Given the description of an element on the screen output the (x, y) to click on. 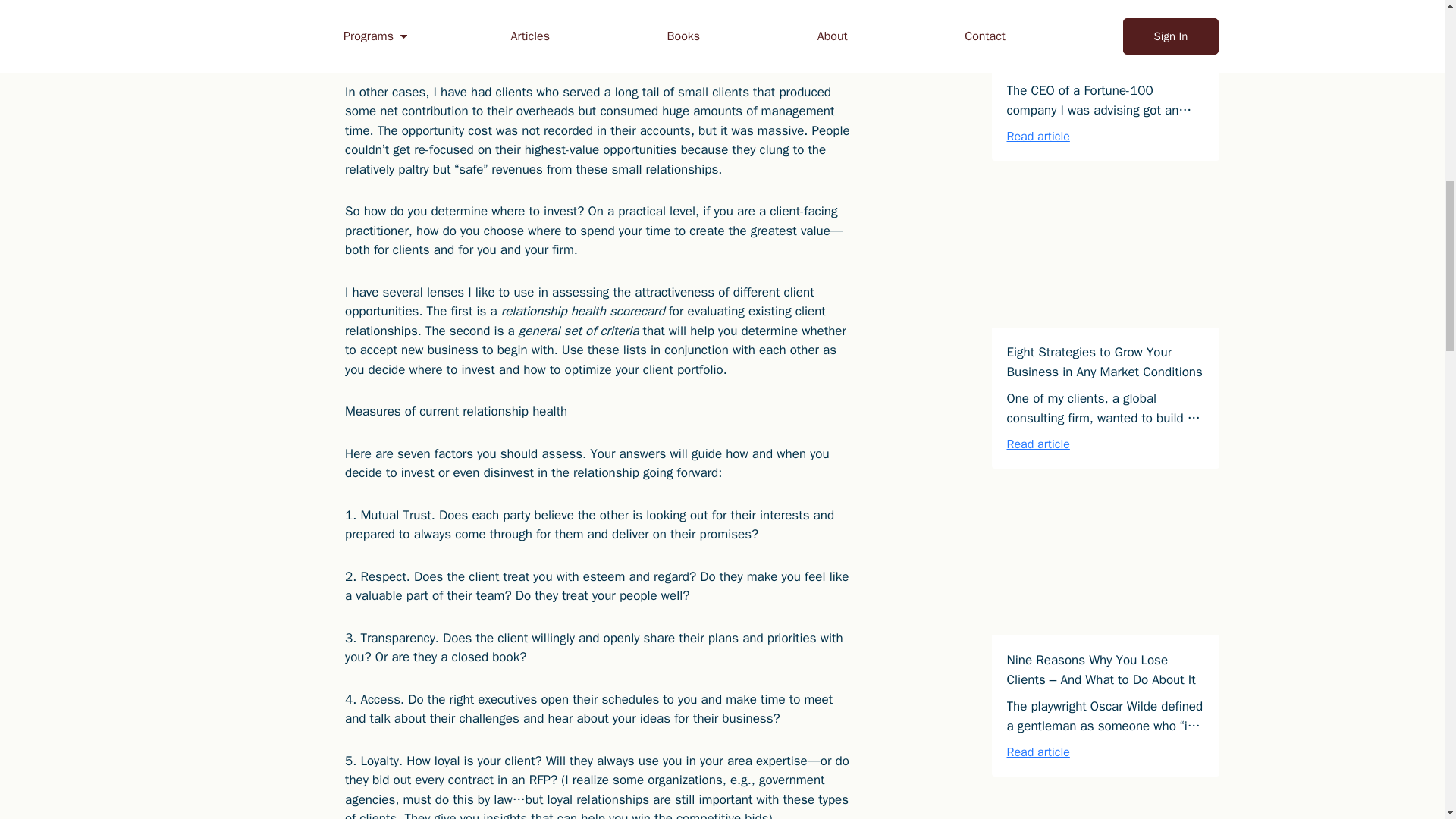
Read article (1038, 136)
Read article (1038, 443)
Read article (1038, 751)
